Given the description of an element on the screen output the (x, y) to click on. 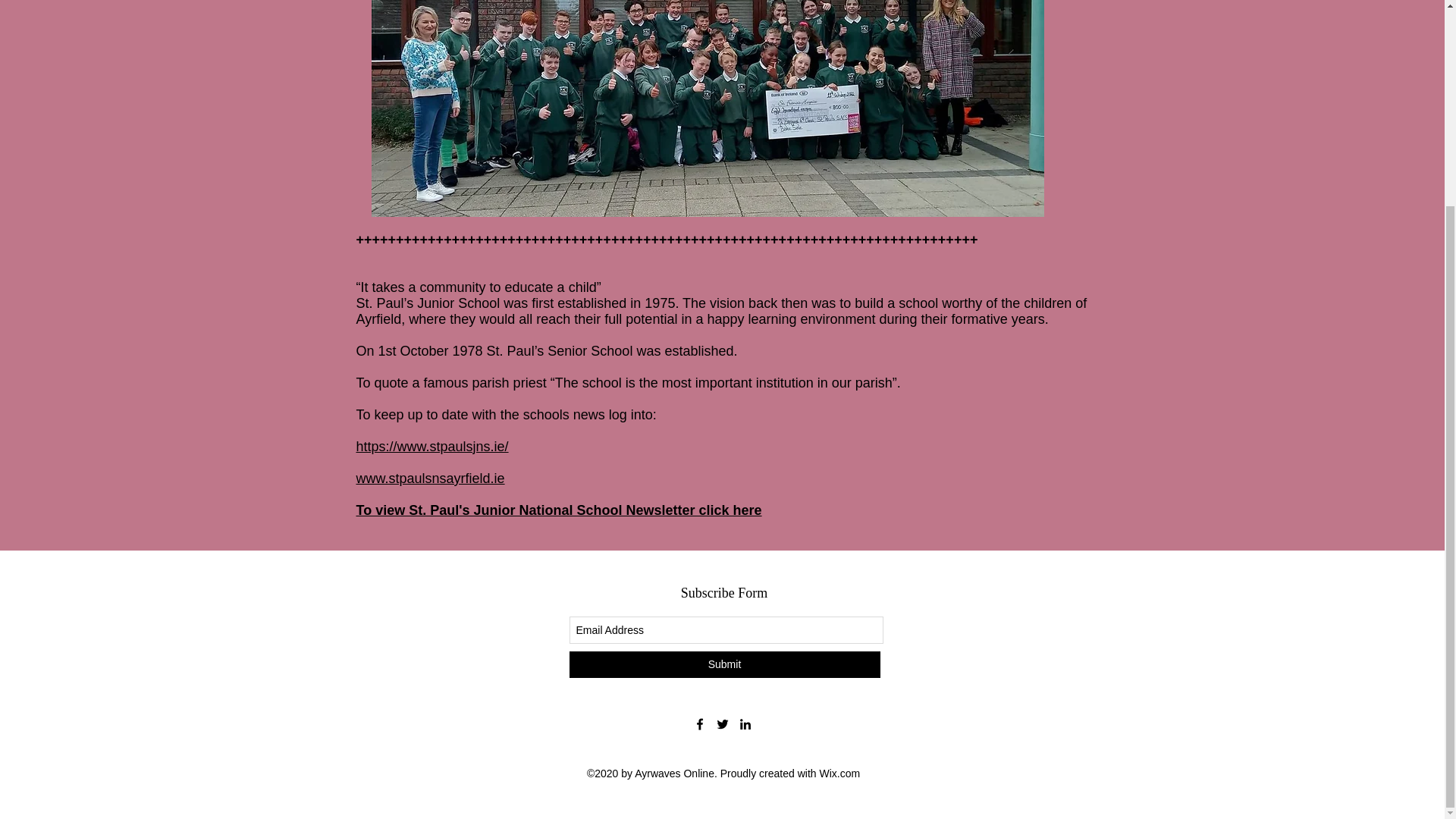
www.stpaulsnsayrfield.ie (430, 478)
Submit (724, 664)
